Given the description of an element on the screen output the (x, y) to click on. 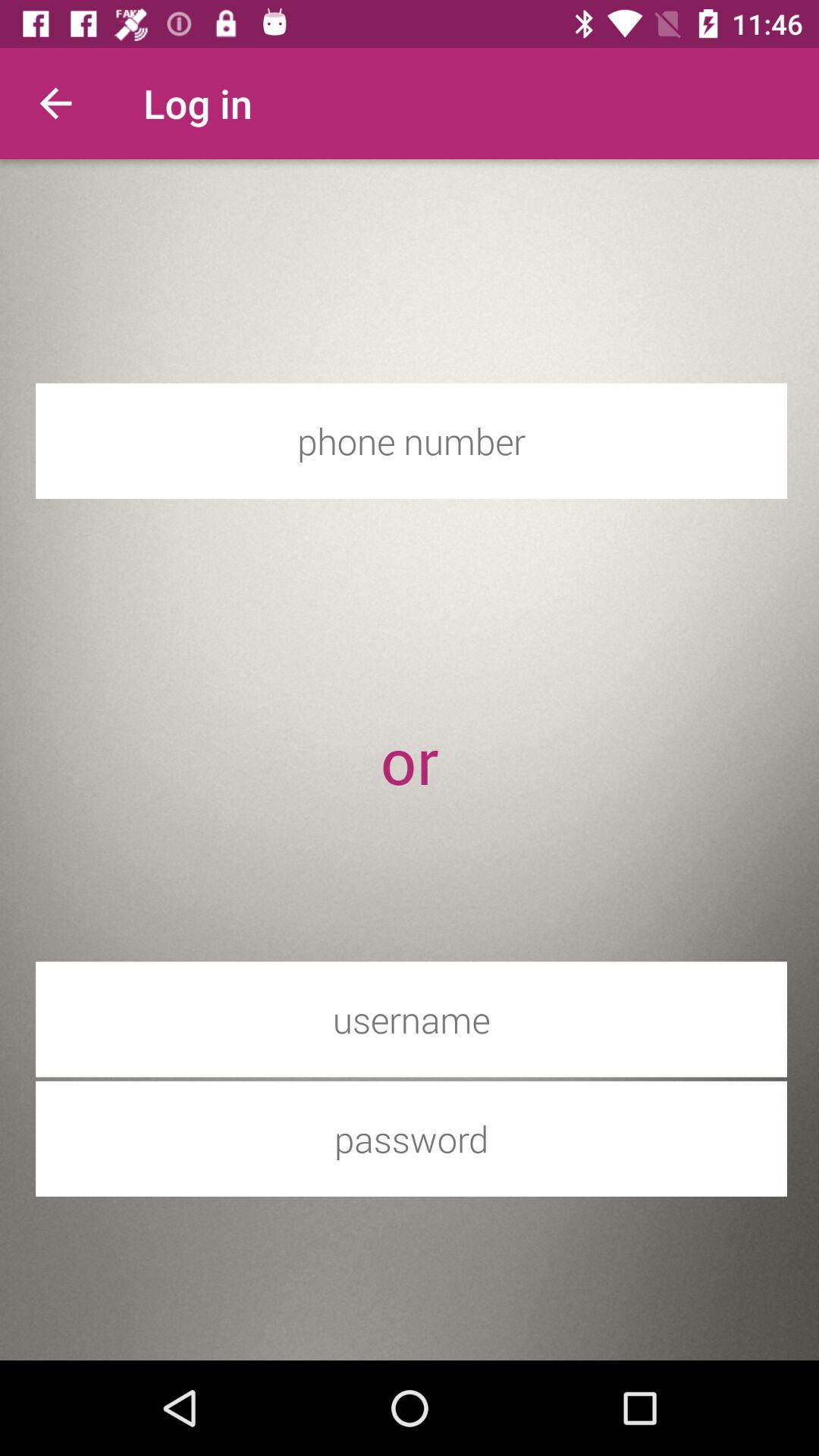
this label was user name enter box (411, 1019)
